Given the description of an element on the screen output the (x, y) to click on. 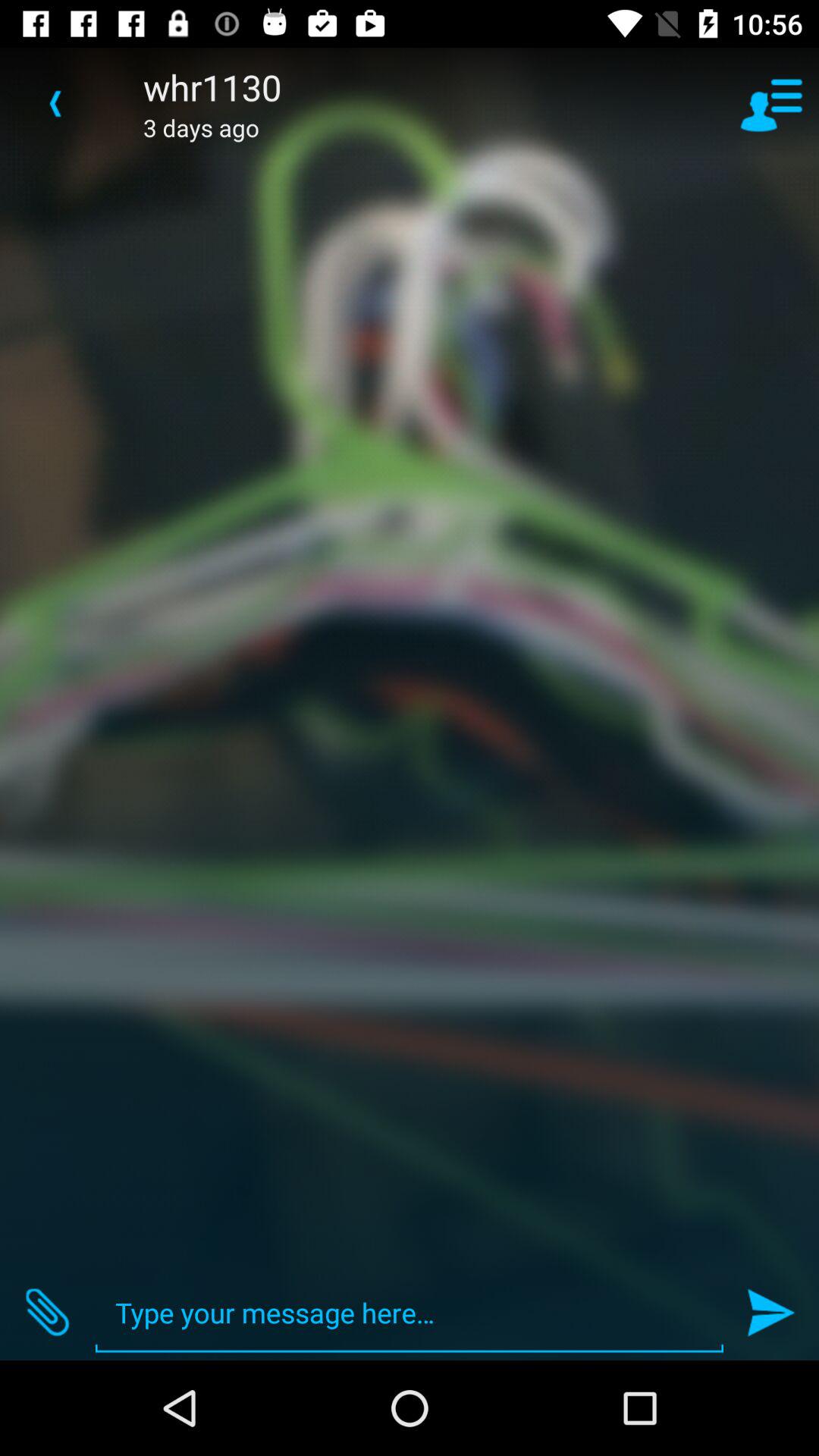
tap icon next to the whr1130 (771, 103)
